Given the description of an element on the screen output the (x, y) to click on. 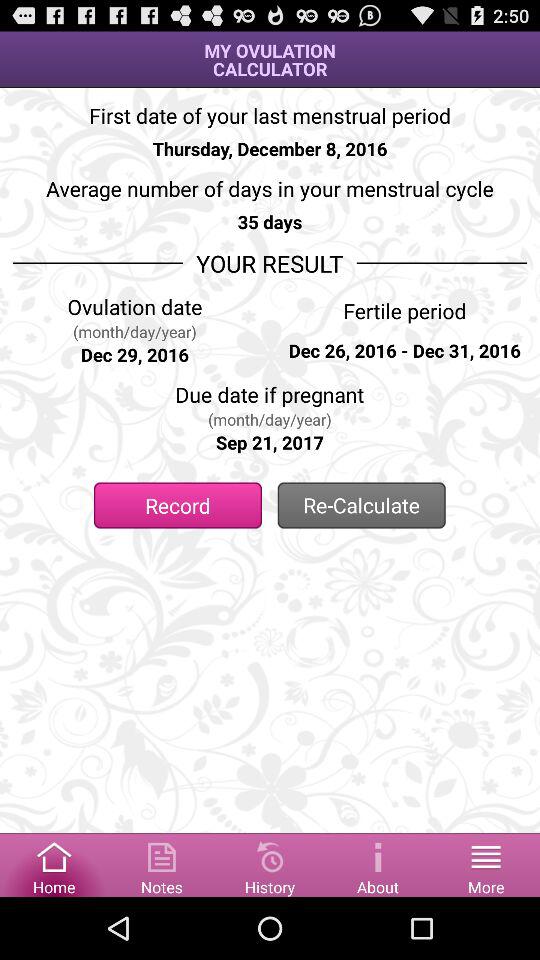
notepad button (162, 864)
